Given the description of an element on the screen output the (x, y) to click on. 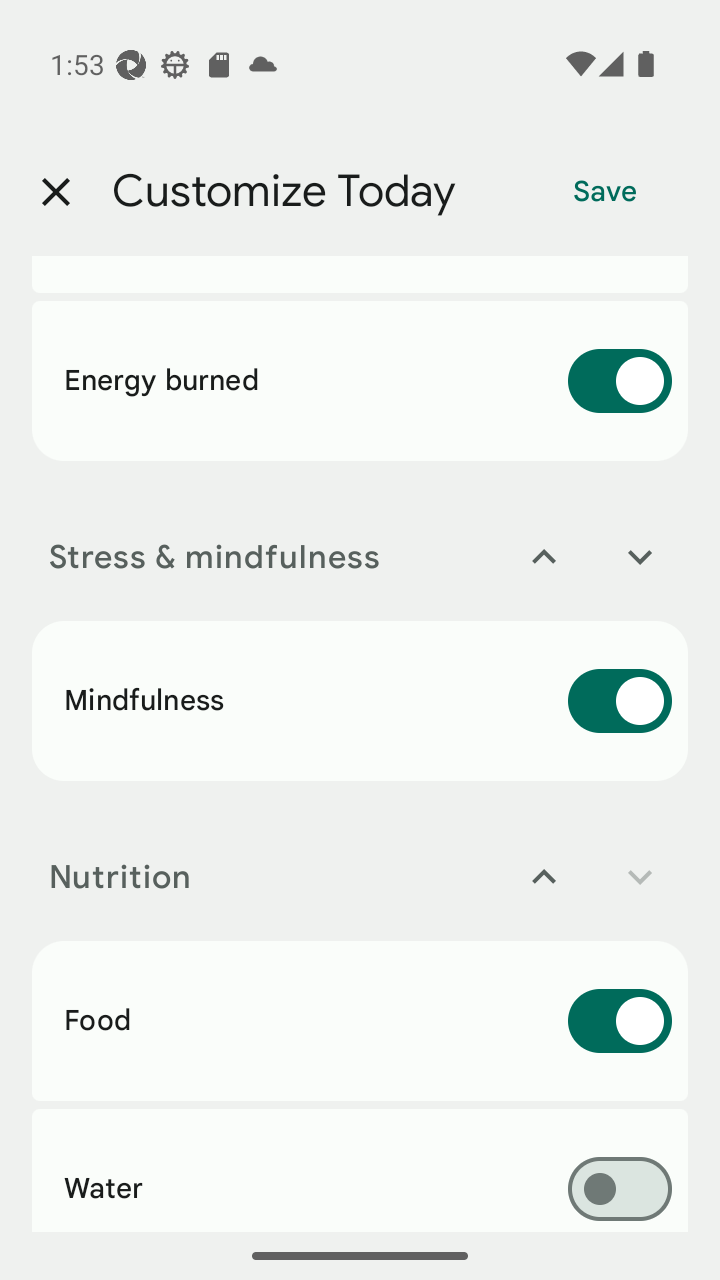
Close (55, 191)
Save (605, 191)
Energy burned (359, 380)
Move Stress & mindfulness up (543, 557)
Move Stress & mindfulness down (639, 557)
Mindfulness (359, 700)
Move Nutrition up (543, 877)
Move Nutrition down (639, 877)
Food (359, 1020)
Water (359, 1169)
